Given the description of an element on the screen output the (x, y) to click on. 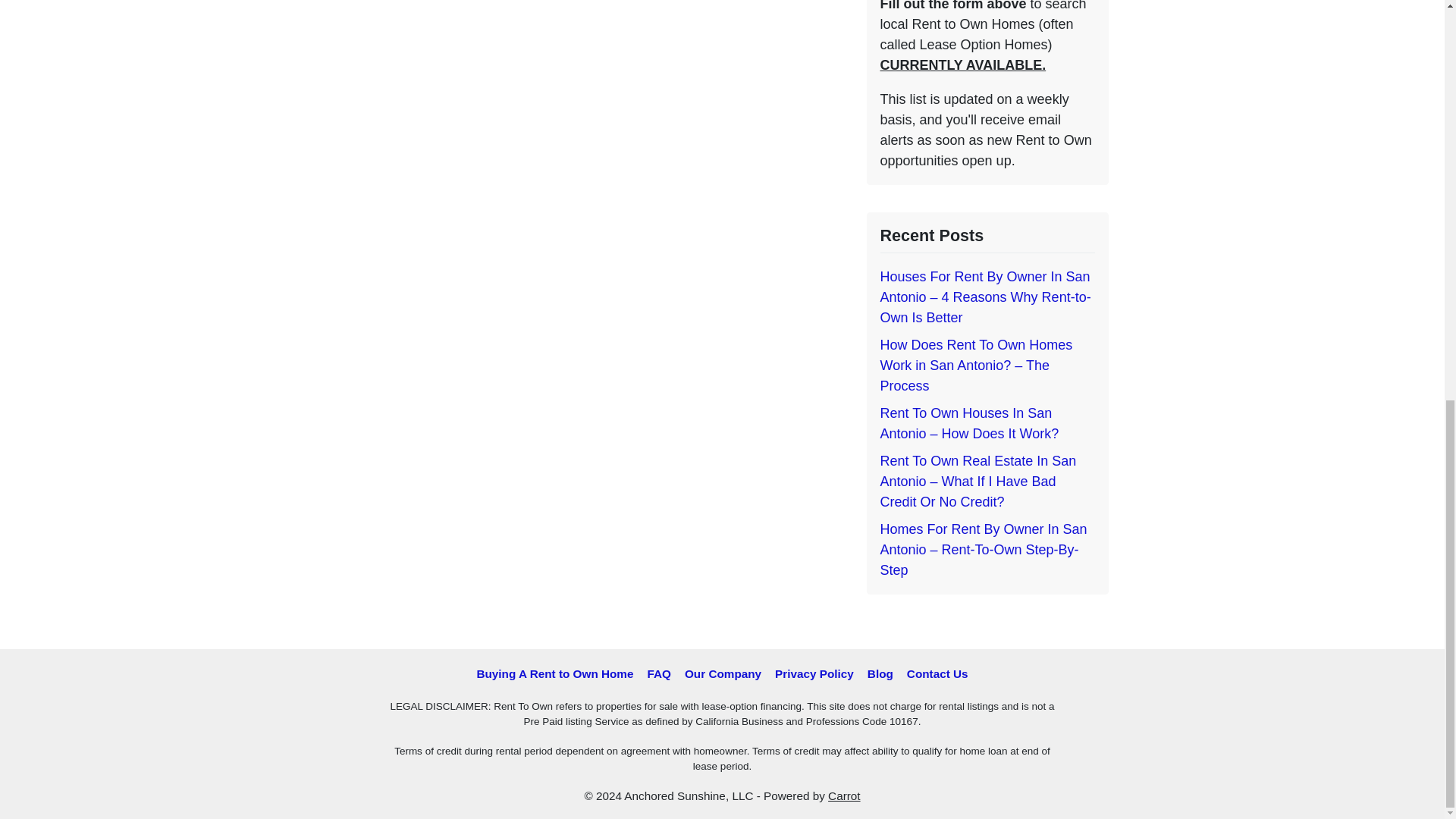
Privacy Policy (814, 673)
Our Company (723, 673)
Contact Us (937, 673)
FAQ (658, 673)
Carrot (844, 795)
Buying A Rent to Own Home (554, 673)
Blog (879, 673)
